Given the description of an element on the screen output the (x, y) to click on. 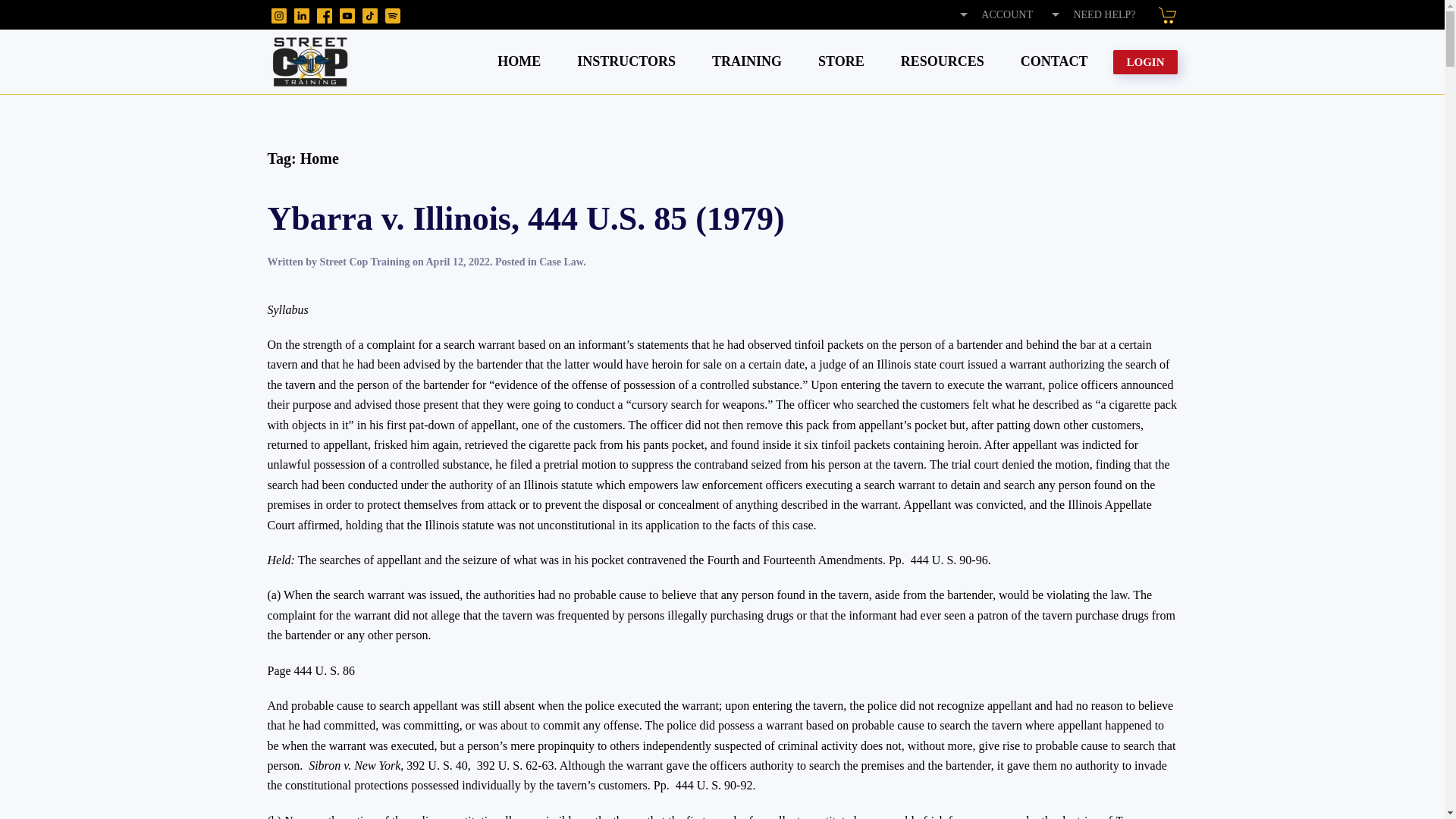
Facebook Street Cop Page (324, 15)
HOME (518, 61)
Facebook Street Cop Page (324, 14)
YouTube Street Cop (347, 15)
LinkedIn Street Cop (301, 15)
Podcast (392, 15)
INSTRUCTORS (625, 61)
LinkedIn Street Cop (301, 14)
YouTube Street Cop (347, 14)
TRAINING (746, 61)
Tic Tok Street Cop (369, 15)
NEED HELP? (1091, 14)
Tic Tok Street Cop (369, 14)
Podcast (392, 14)
Instagram Street Cop (278, 15)
